Given the description of an element on the screen output the (x, y) to click on. 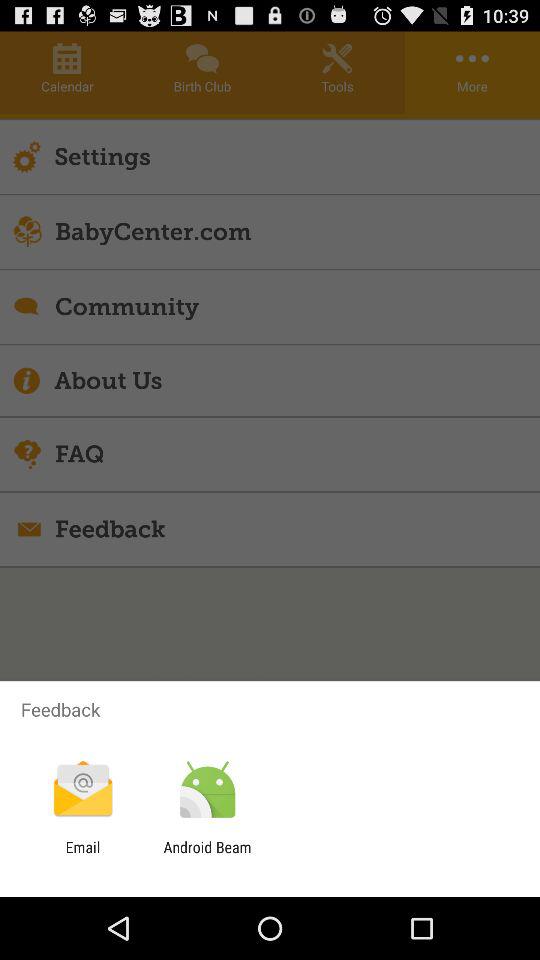
open the app to the right of email (207, 856)
